Given the description of an element on the screen output the (x, y) to click on. 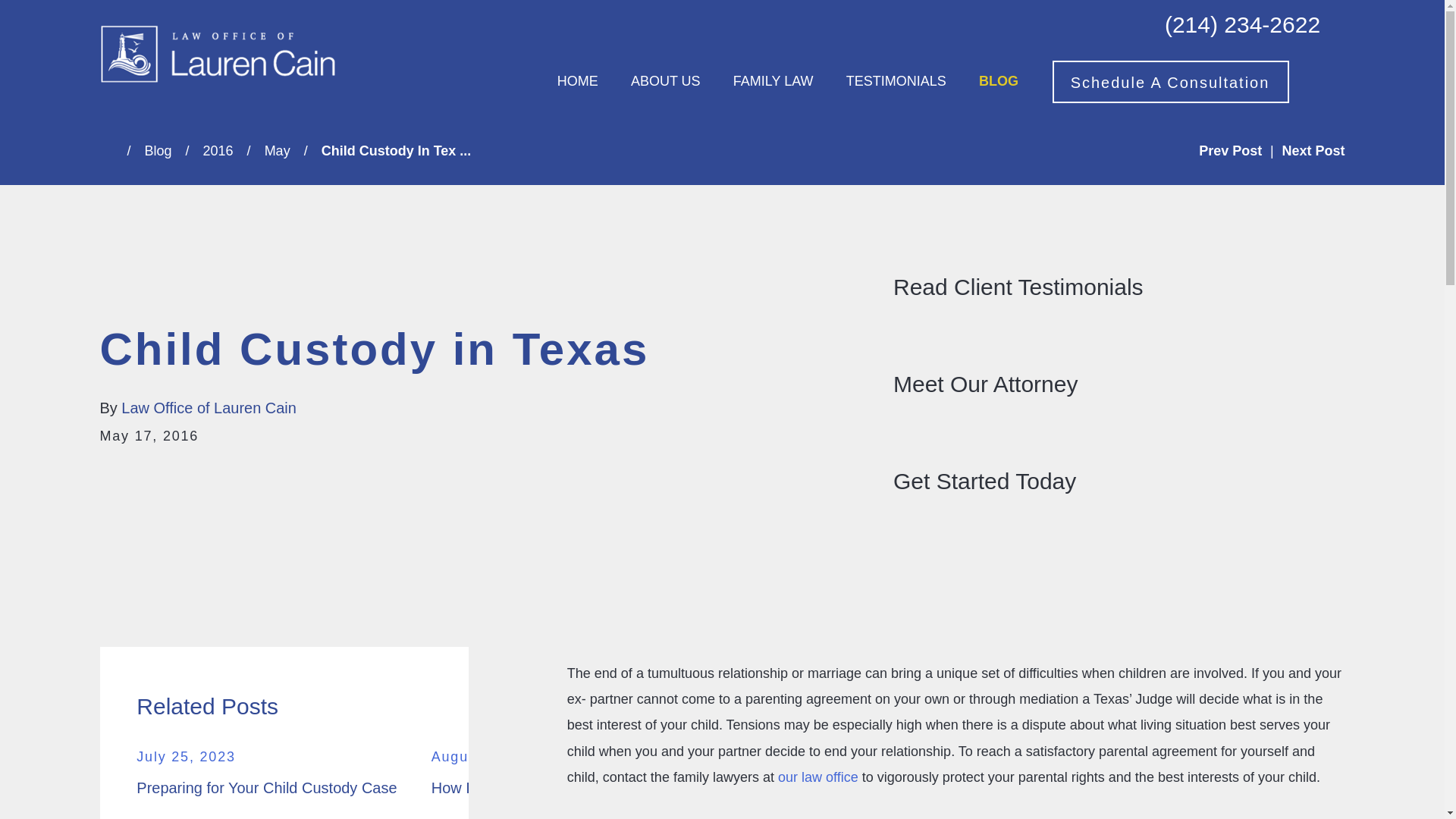
Law Office of Lauren Cain (217, 54)
BLOG (997, 81)
HOME (577, 81)
TESTIMONIALS (895, 81)
FAMILY LAW (773, 81)
ABOUT US (665, 81)
Open the accessibility options menu (31, 786)
Go Home (114, 151)
